Given the description of an element on the screen output the (x, y) to click on. 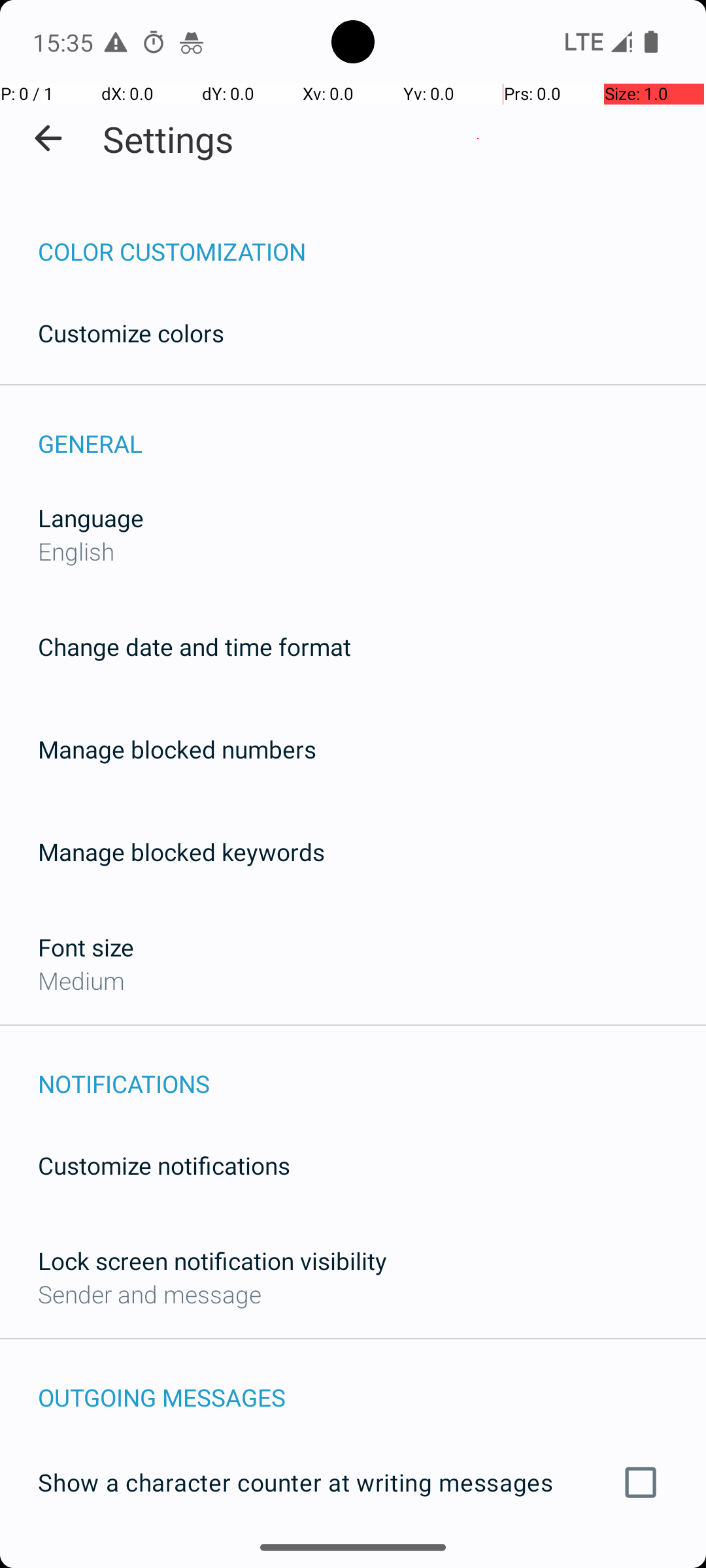
NOTIFICATIONS Element type: android.widget.TextView (371, 1069)
OUTGOING MESSAGES Element type: android.widget.TextView (371, 1383)
Change date and time format Element type: android.widget.TextView (194, 646)
Manage blocked numbers Element type: android.widget.TextView (176, 748)
Manage blocked keywords Element type: android.widget.TextView (180, 851)
Font size Element type: android.widget.TextView (85, 946)
Medium Element type: android.widget.TextView (80, 979)
Lock screen notification visibility Element type: android.widget.TextView (211, 1260)
Sender and message Element type: android.widget.TextView (149, 1293)
Show a character counter at writing messages Element type: android.widget.CheckBox (352, 1482)
Remove accents and diacritics at sending messages Element type: android.widget.CheckBox (352, 1559)
